Given the description of an element on the screen output the (x, y) to click on. 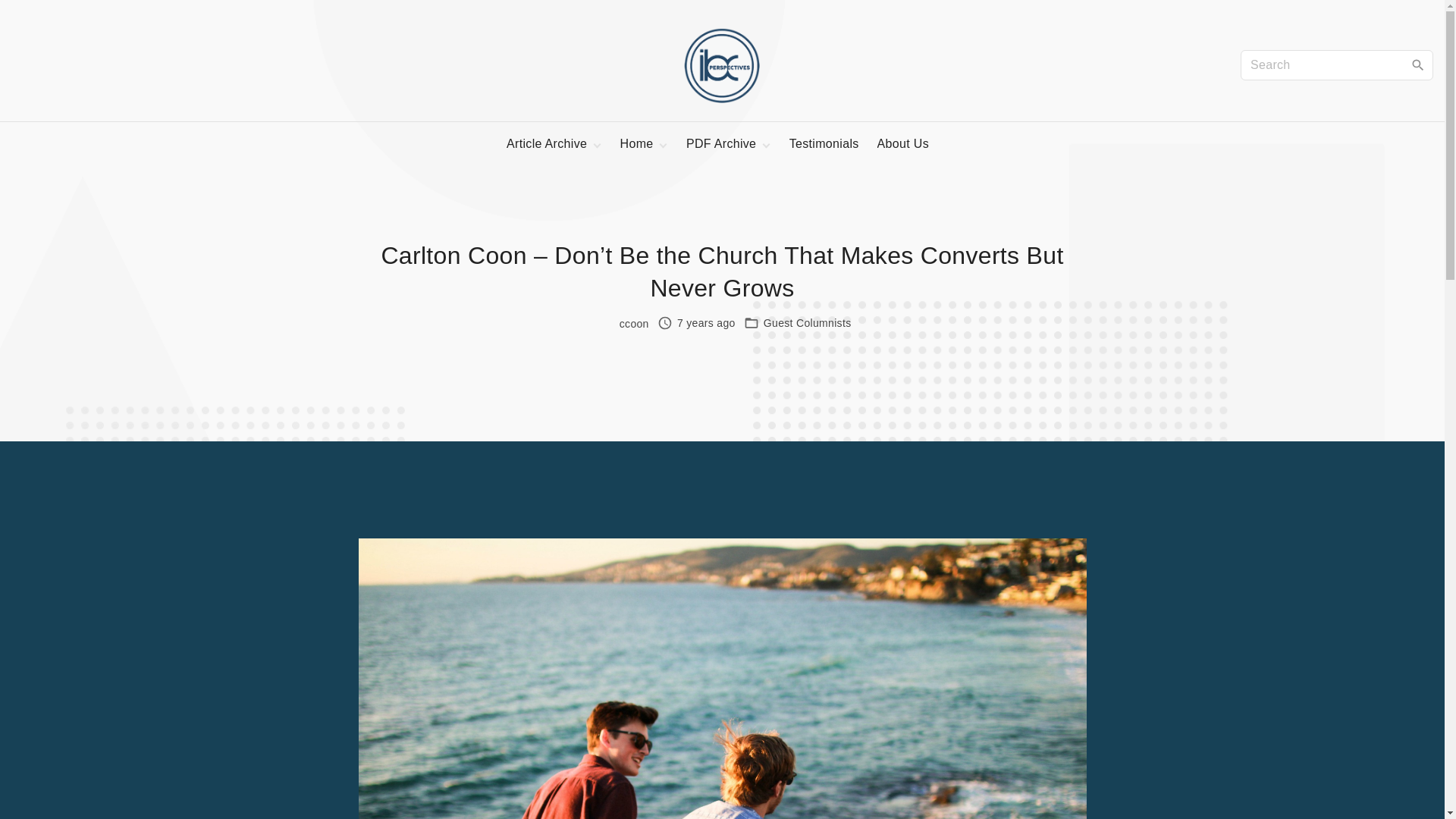
About Us (902, 144)
Article Archive (547, 144)
Testimonials (824, 144)
Search (1417, 63)
Home (637, 144)
PDF Archive (721, 144)
